Given the description of an element on the screen output the (x, y) to click on. 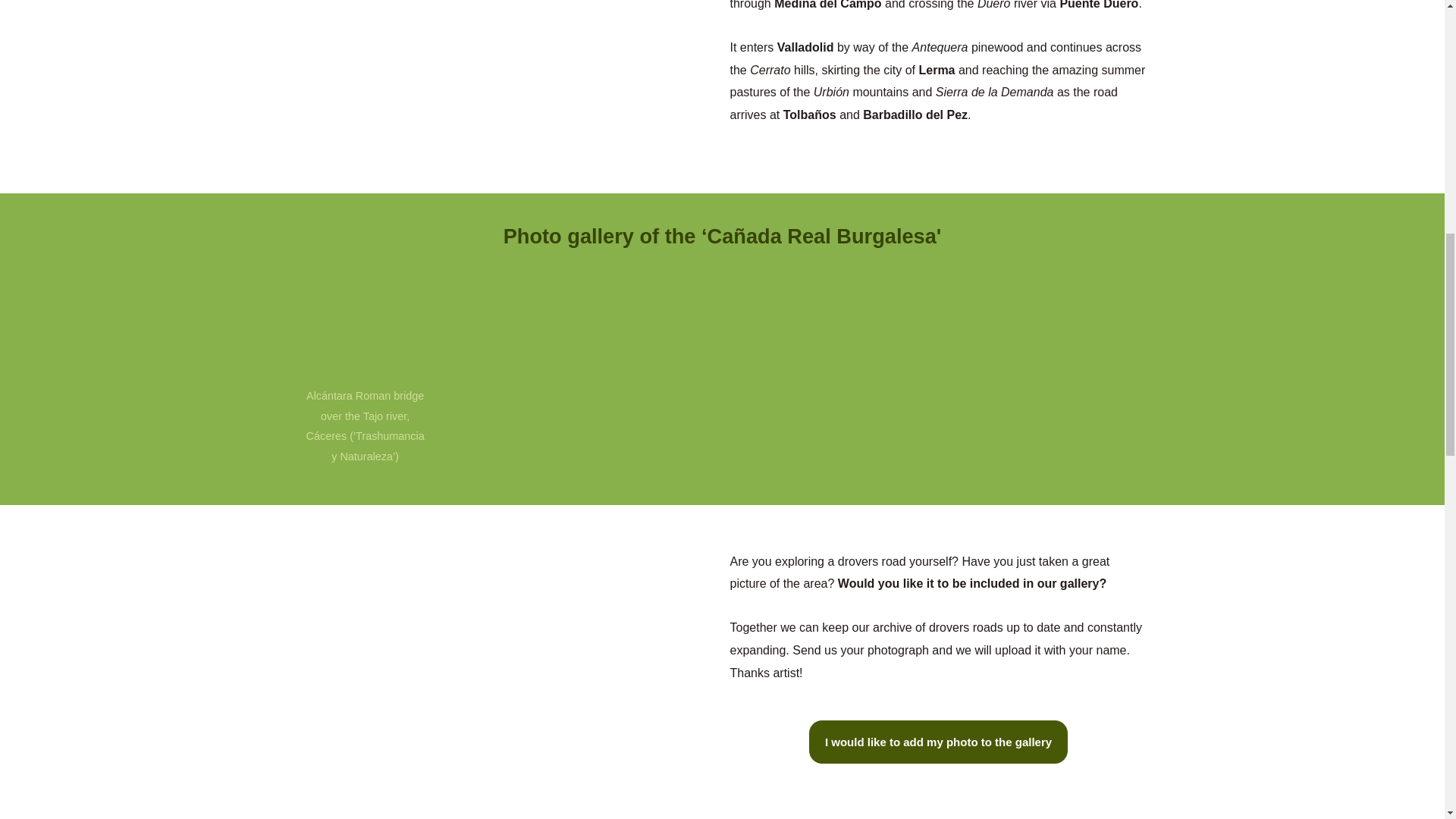
I would like to add my photo to the gallery (938, 741)
